Given the description of an element on the screen output the (x, y) to click on. 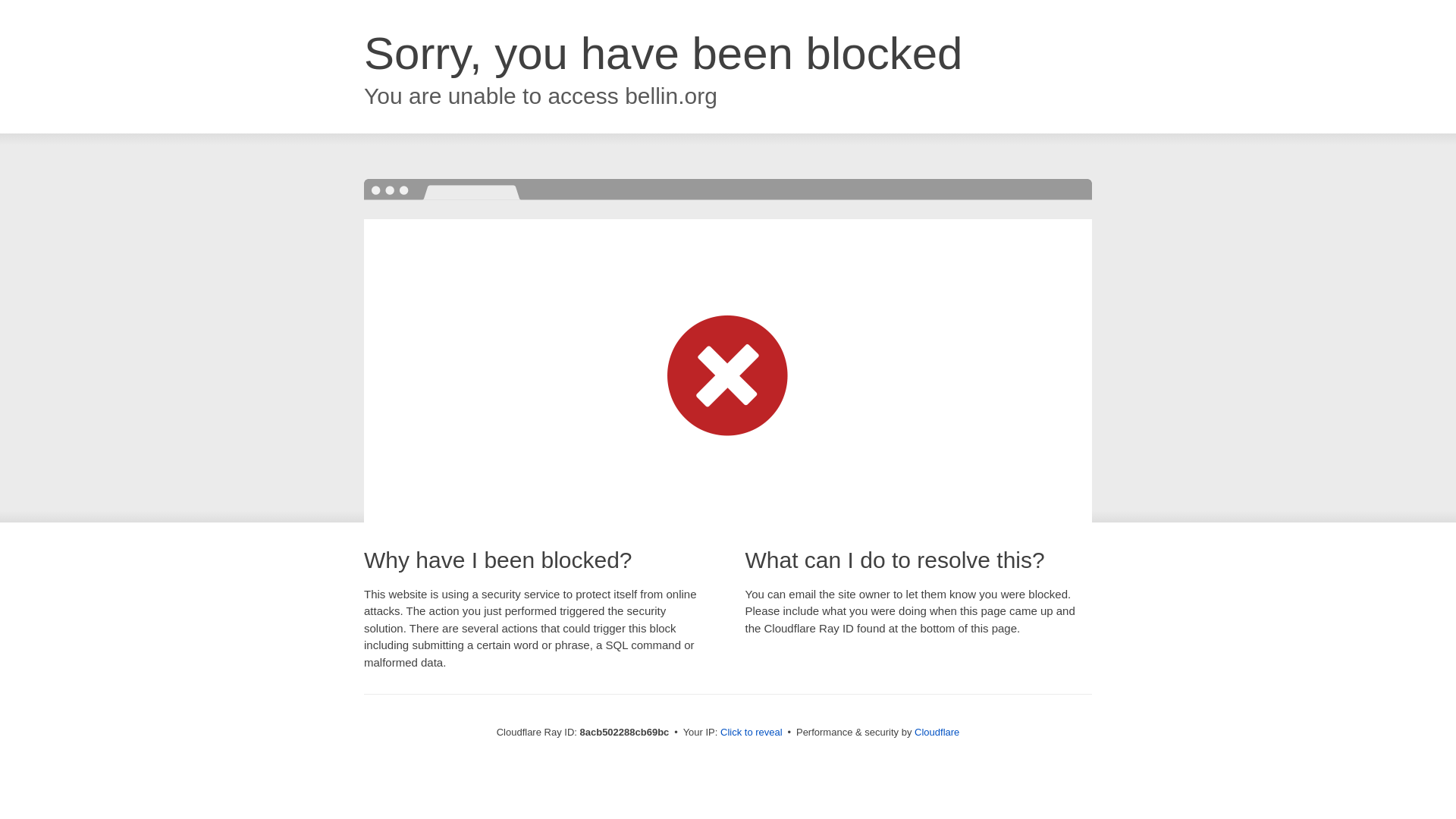
Cloudflare (936, 731)
Click to reveal (751, 732)
